Given the description of an element on the screen output the (x, y) to click on. 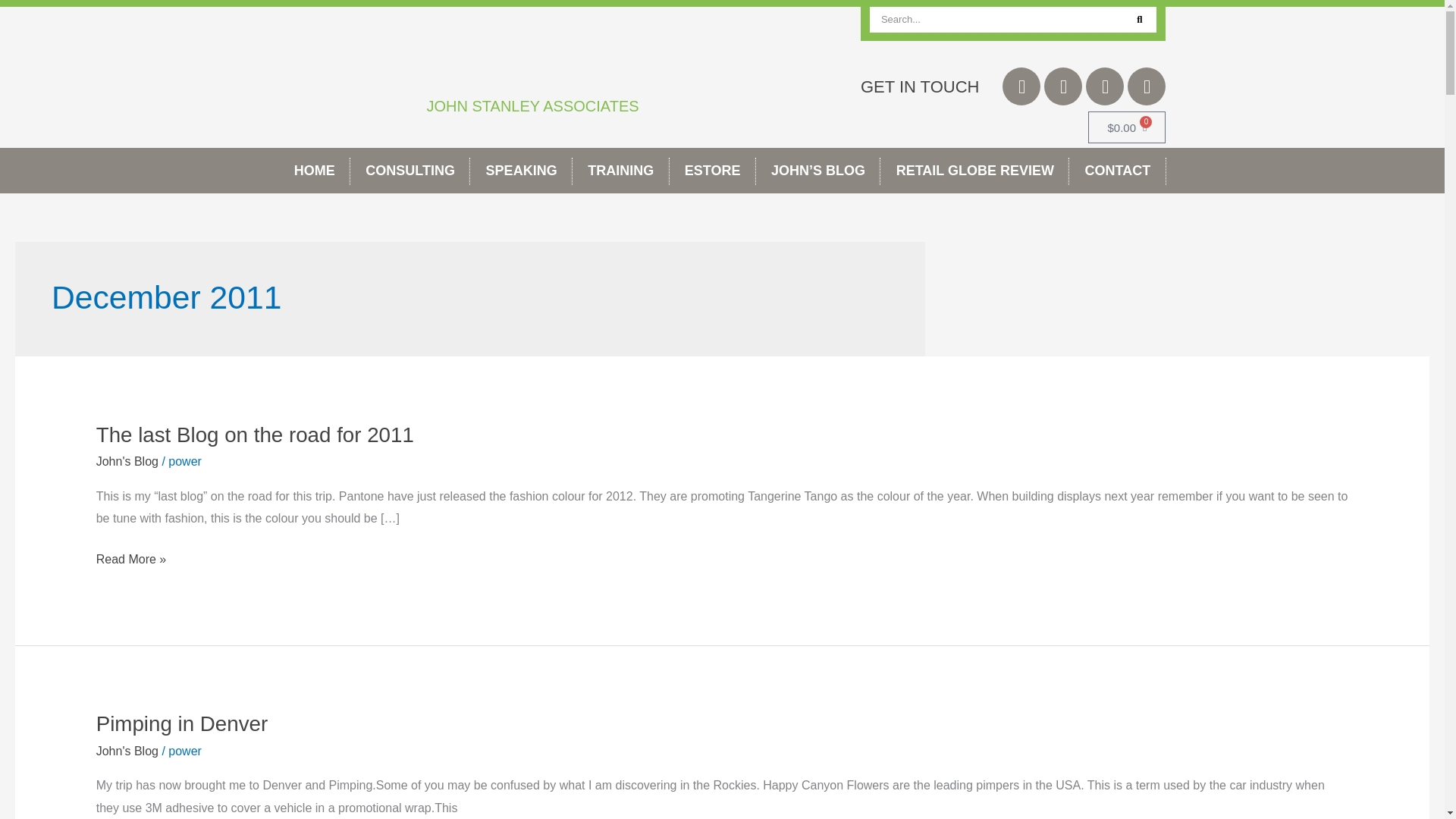
ESTORE (712, 170)
View all posts by power (185, 750)
HOME (314, 170)
Youtube (1146, 86)
View all posts by power (185, 461)
Linkedin-in (1105, 86)
Search (1139, 19)
CONSULTING (410, 170)
TRAINING (620, 170)
SPEAKING (521, 170)
